Given the description of an element on the screen output the (x, y) to click on. 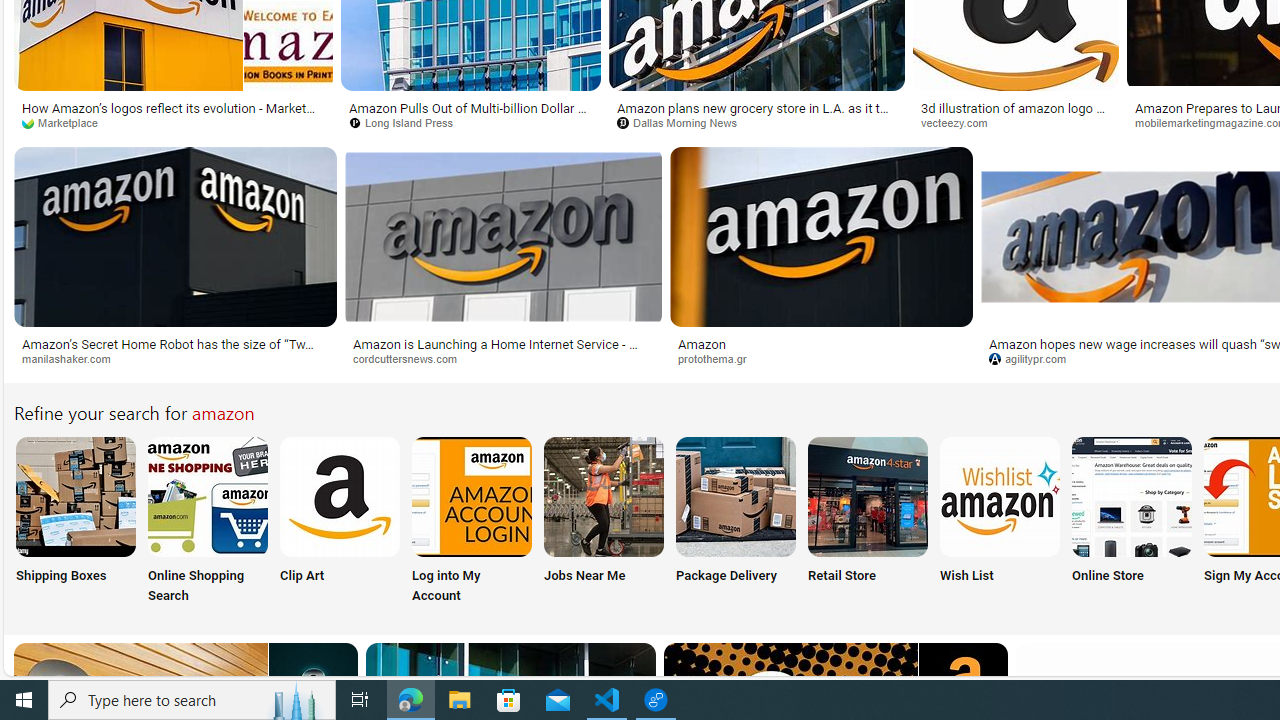
Clip Art (339, 521)
Marketplace (173, 123)
Amazon Log into My Account (472, 496)
Amazon Package Delivery (735, 496)
Online Shopping Search (207, 521)
